Given the description of an element on the screen output the (x, y) to click on. 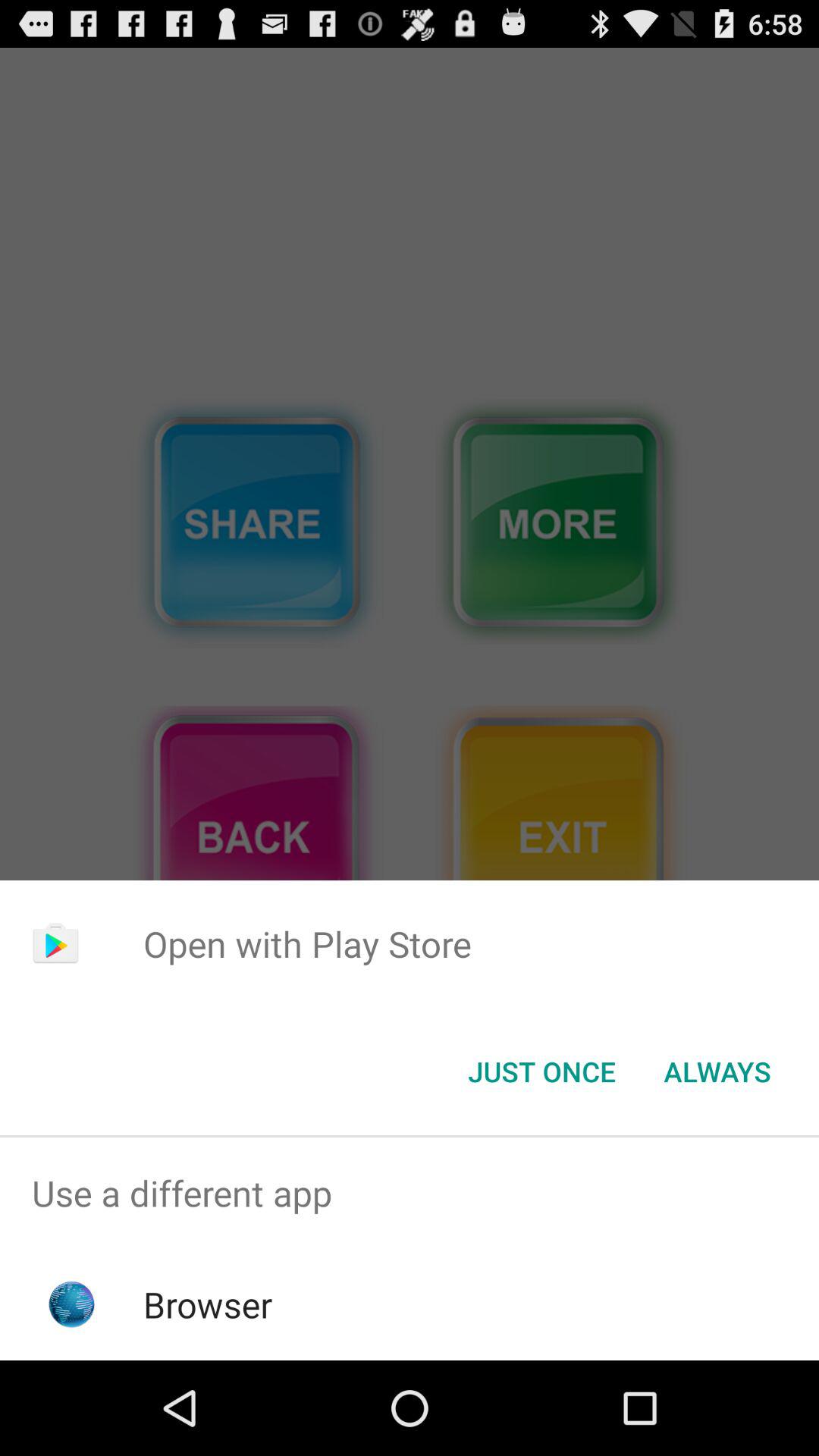
turn off the browser (207, 1304)
